Given the description of an element on the screen output the (x, y) to click on. 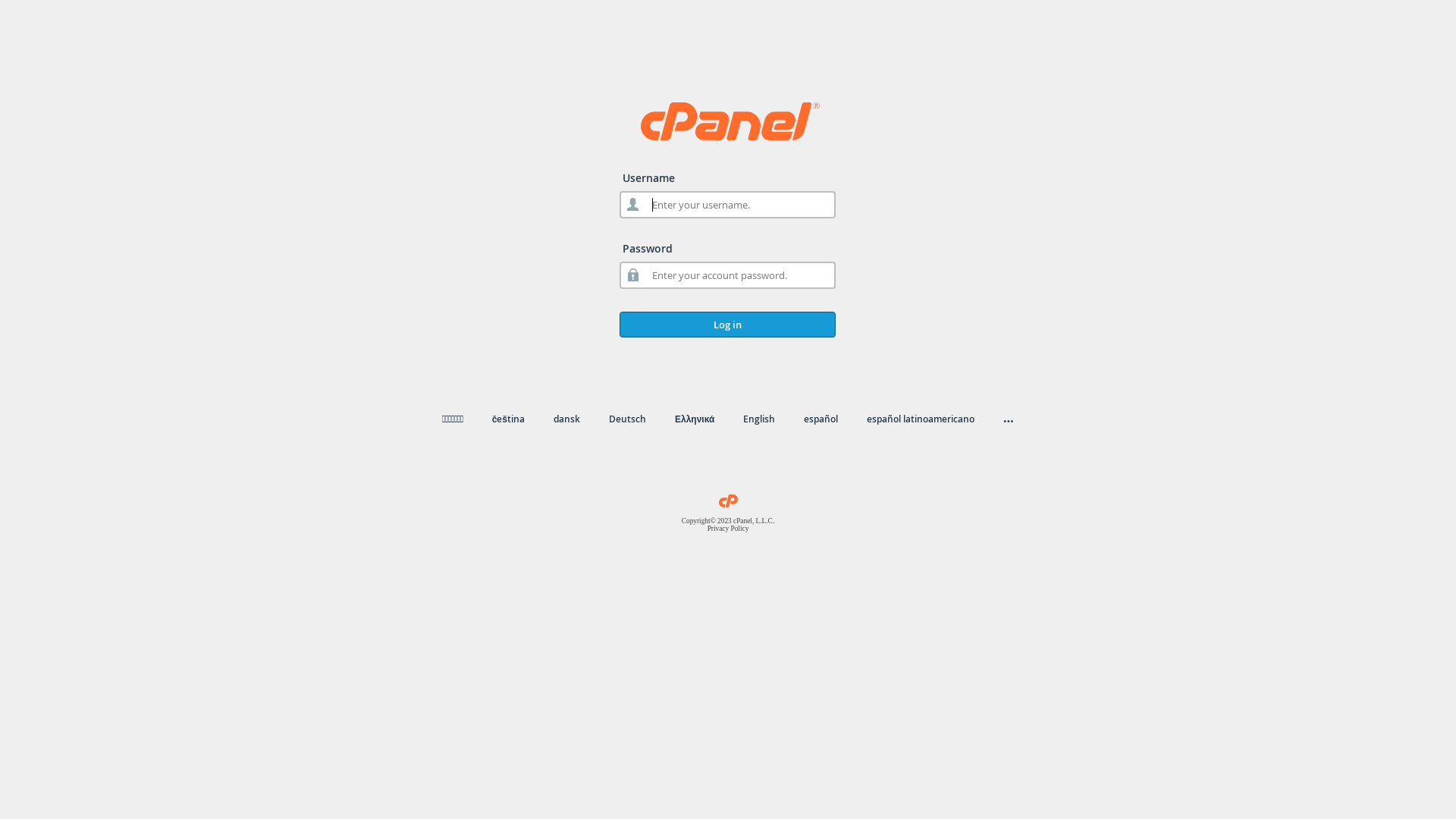
Enter Here Element type: text (558, 224)
Enter Here Element type: text (896, 224)
